Given the description of an element on the screen output the (x, y) to click on. 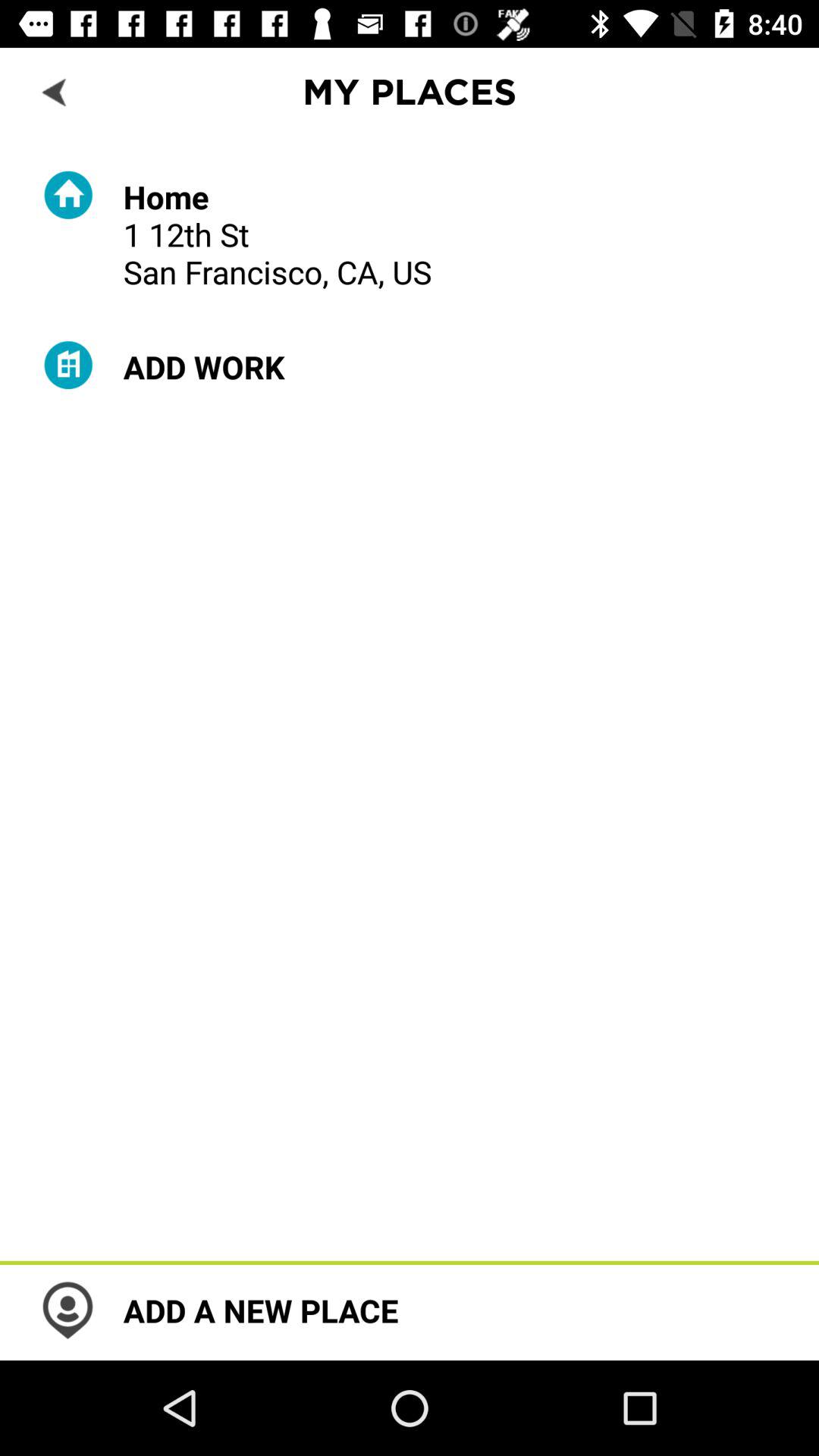
tap home 1 12th item (277, 234)
